Given the description of an element on the screen output the (x, y) to click on. 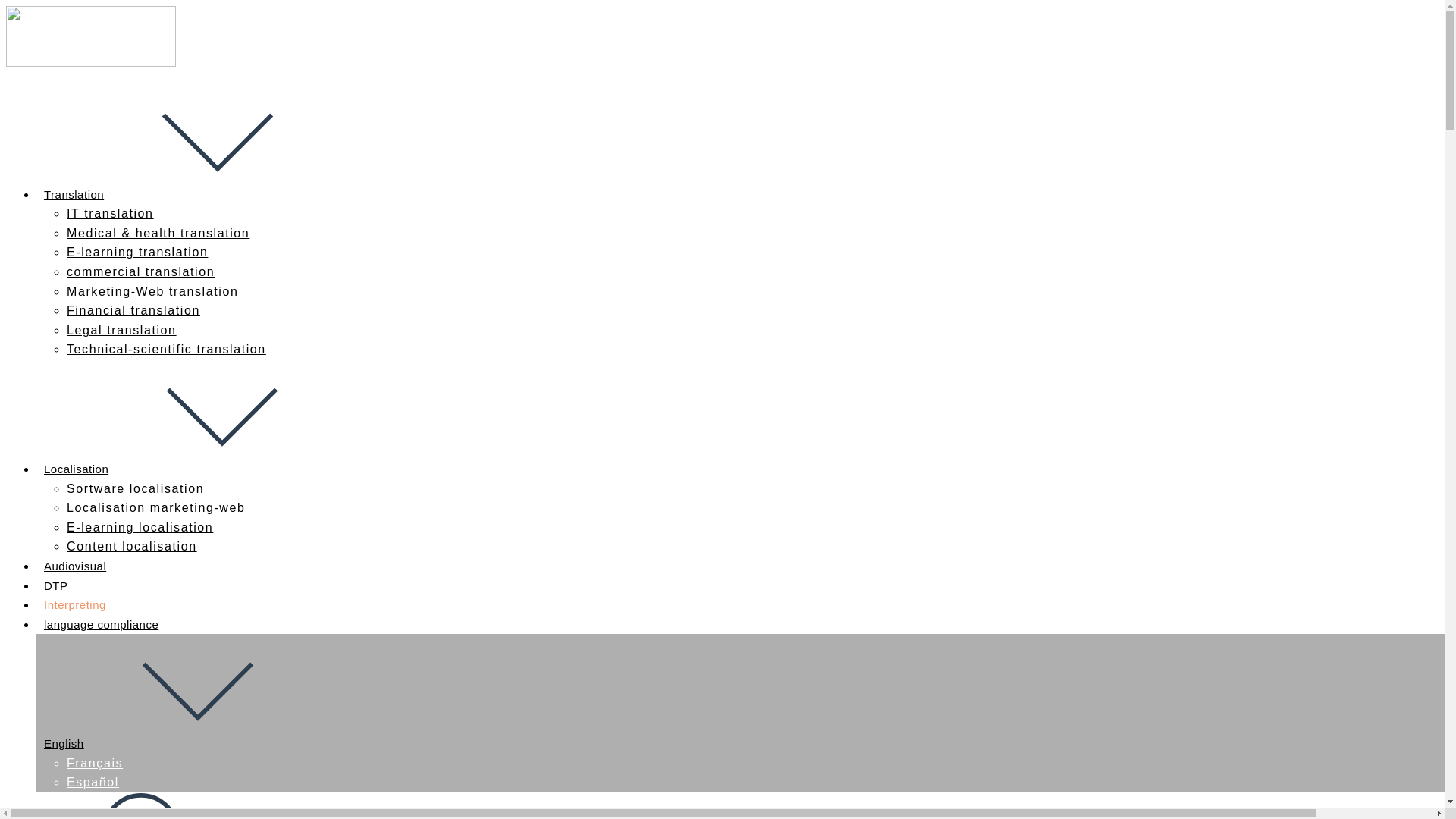
Sortware localisation (134, 488)
language compliance (100, 624)
Interpreting (74, 604)
IT translation (110, 213)
DTP (55, 585)
Audiovisual (74, 565)
Financial translation (133, 309)
Legal translation (121, 329)
Localisation marketing-web (155, 507)
